Given the description of an element on the screen output the (x, y) to click on. 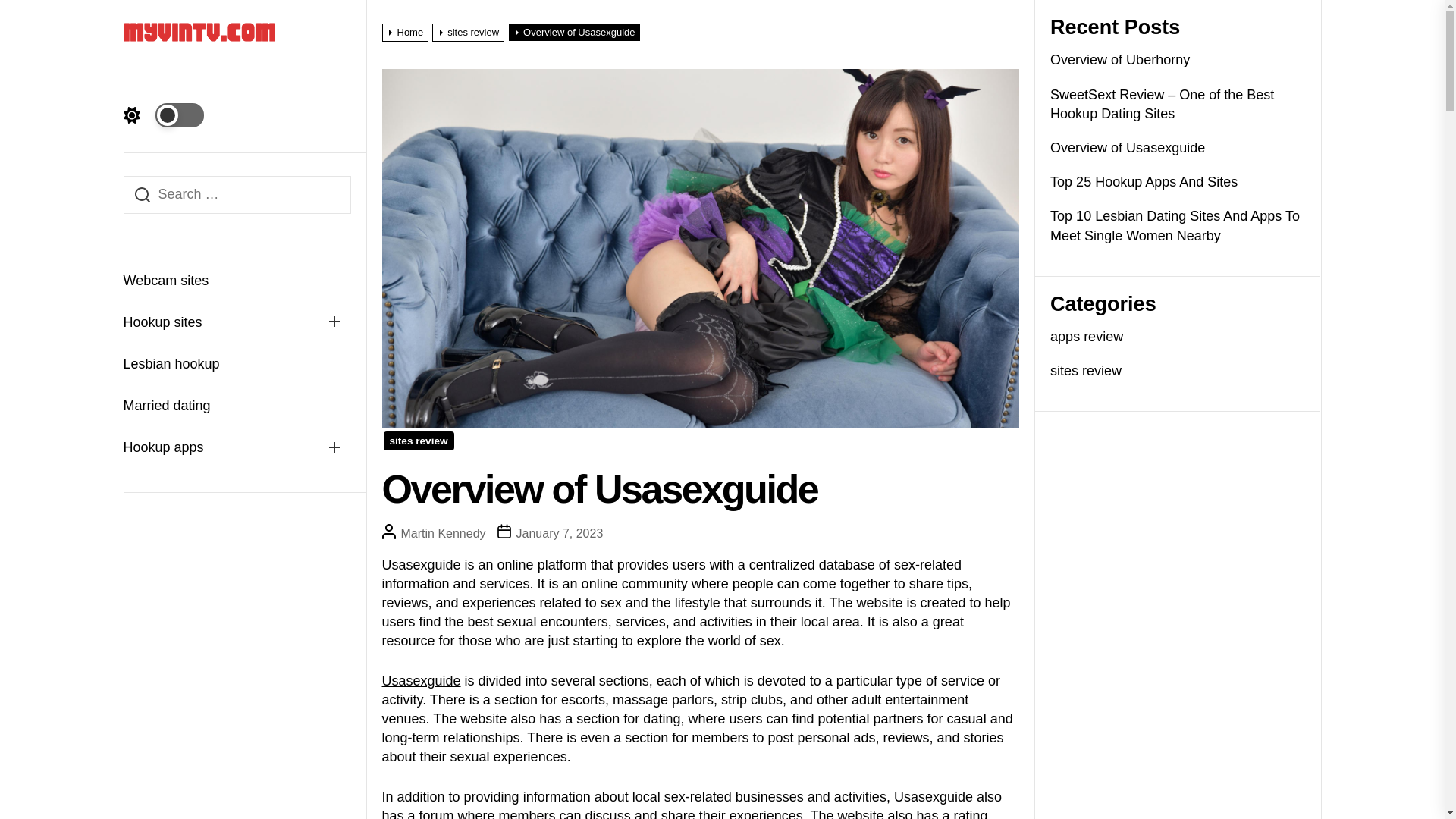
Hookup apps (219, 447)
January 7, 2023 (560, 533)
Home (406, 31)
sites review (470, 31)
Married dating (236, 405)
sites review (419, 440)
Webcam sites (236, 281)
Hookup sites (219, 322)
Overview of Usasexguide (575, 31)
Lesbian hookup (236, 363)
UsaSexGuide Review (421, 680)
Usasexguide (421, 680)
Martin Kennedy (442, 533)
